Given the description of an element on the screen output the (x, y) to click on. 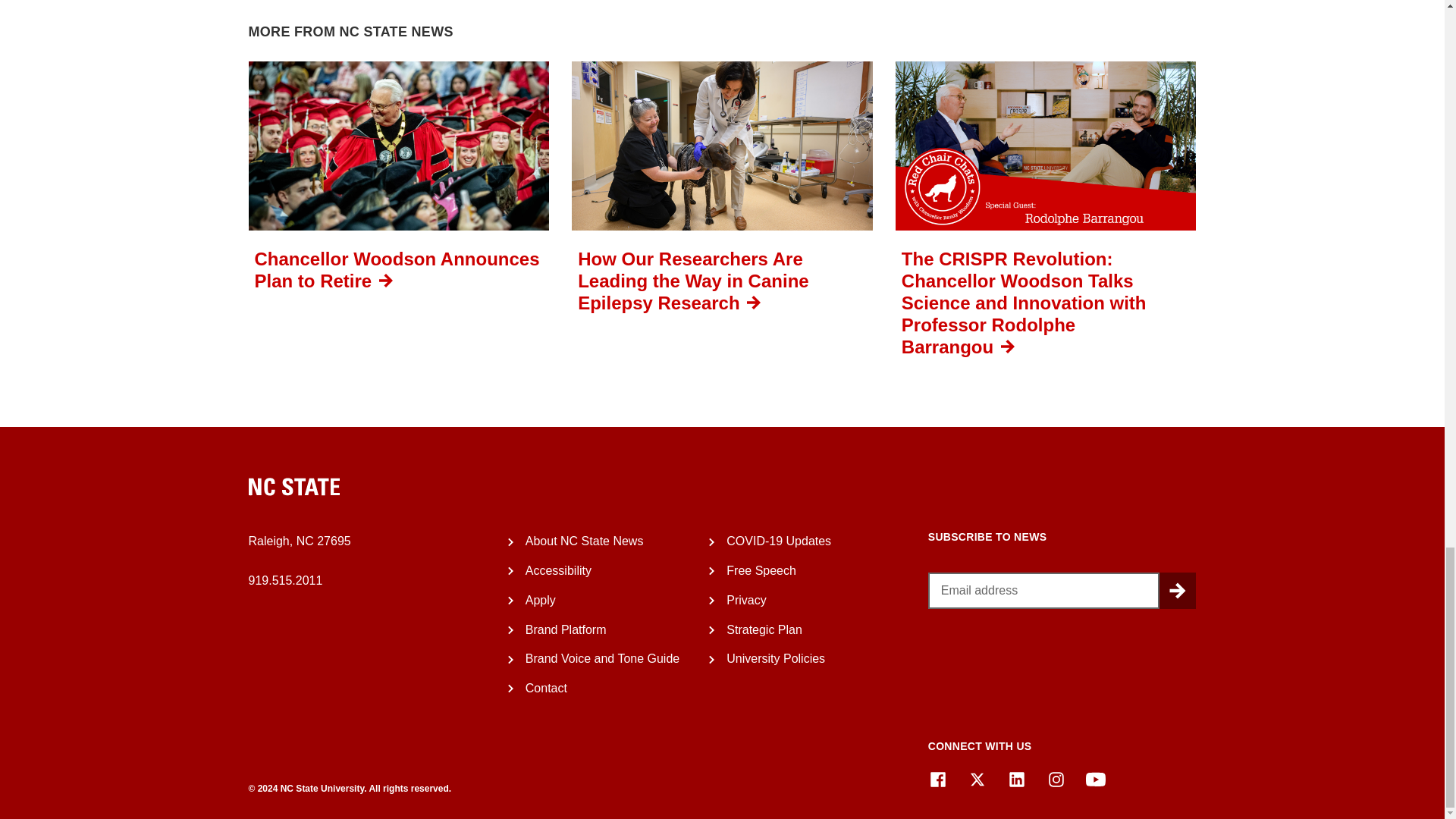
LinkedIn (1016, 779)
Instagram (1055, 779)
Facebook (937, 779)
X (977, 779)
YouTube (1095, 779)
